Given the description of an element on the screen output the (x, y) to click on. 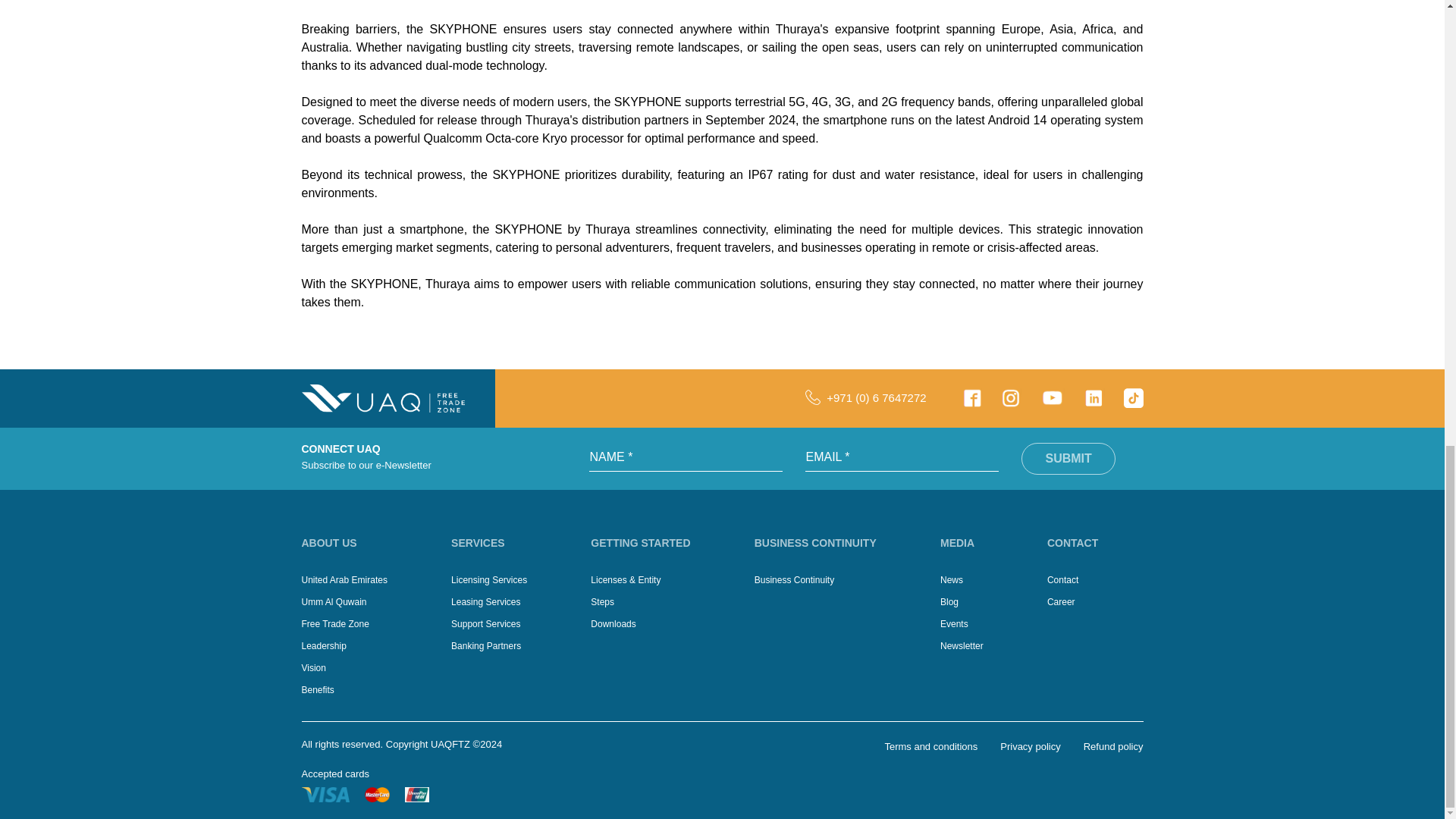
Free Trade Zone (335, 624)
Umm Al Quwain (333, 602)
SUBMIT (1068, 459)
ABOUT US (366, 543)
United Arab Emirates (344, 579)
